Given the description of an element on the screen output the (x, y) to click on. 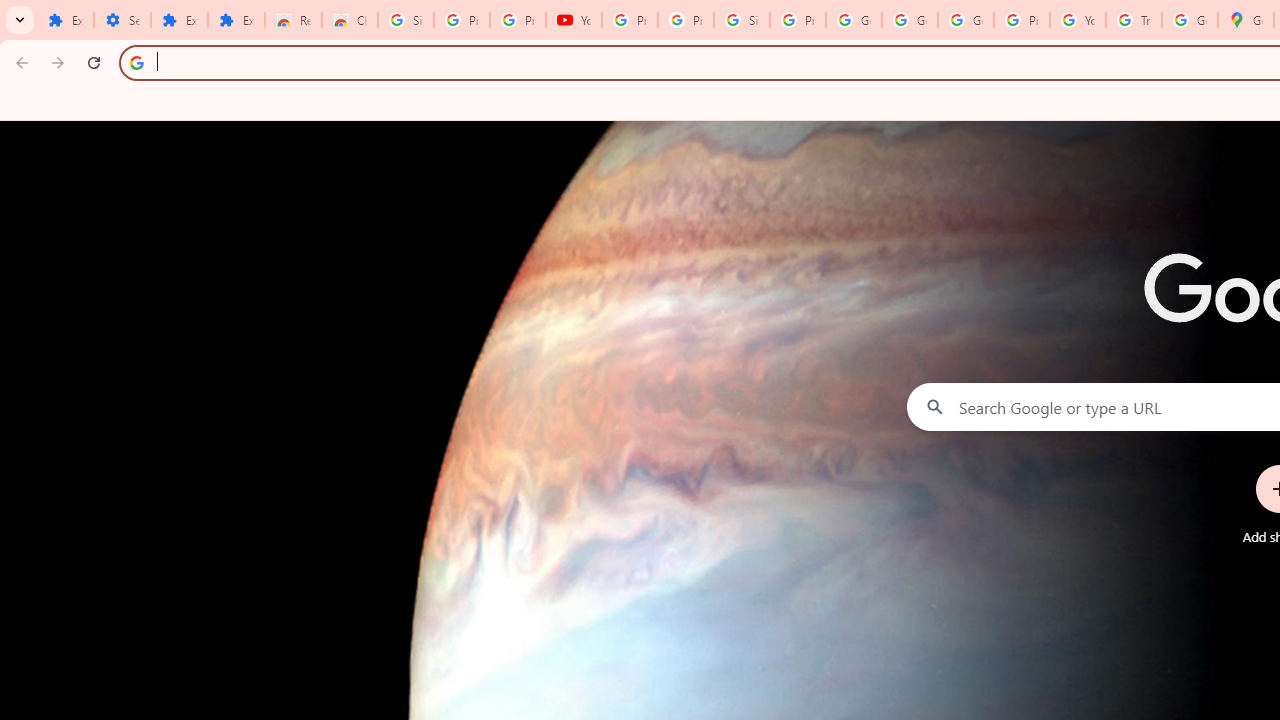
Google Account (909, 20)
Google Account (853, 20)
Extensions (235, 20)
Sign in - Google Accounts (405, 20)
YouTube (1077, 20)
